Given the description of an element on the screen output the (x, y) to click on. 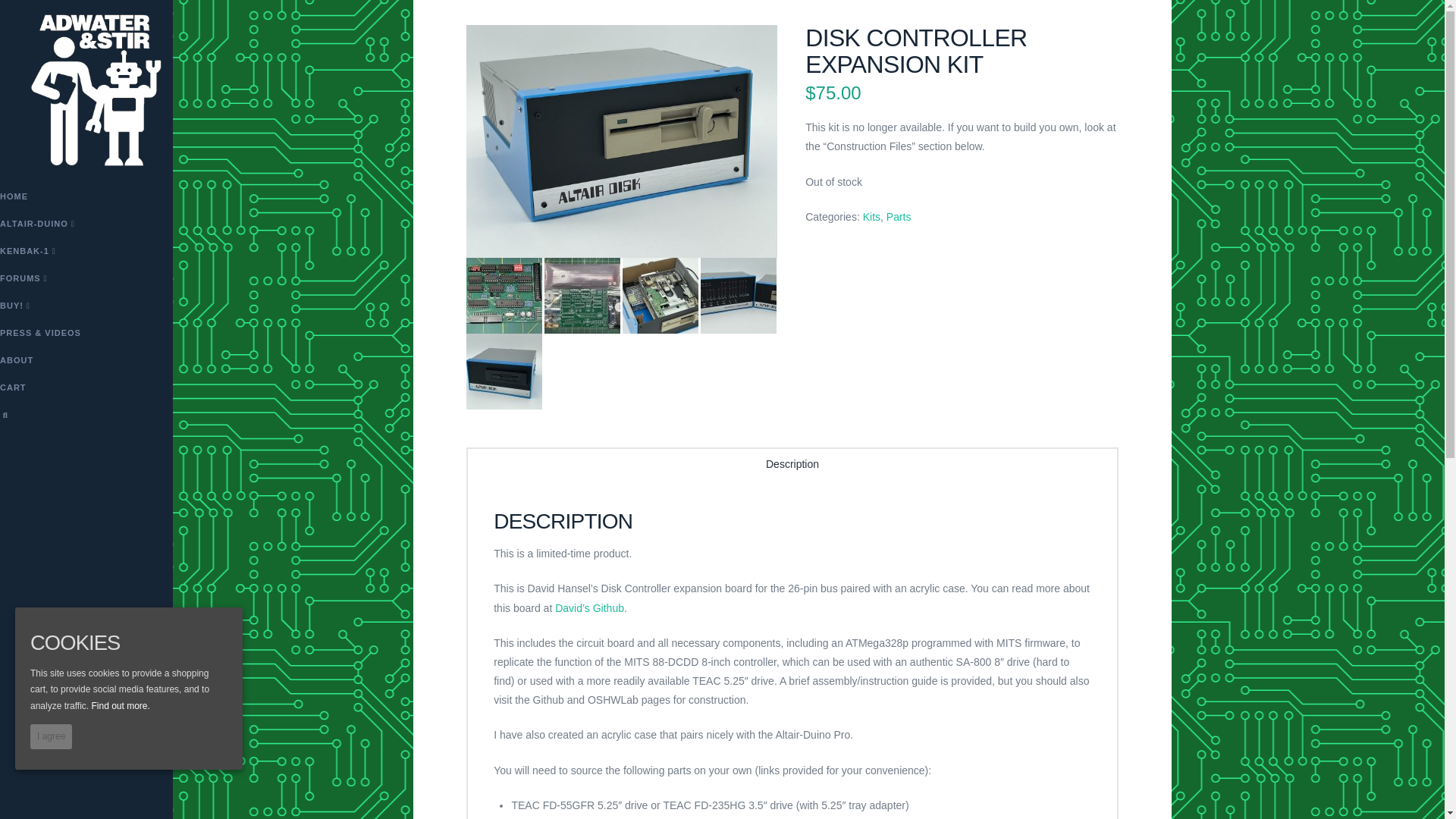
ABOUT (86, 361)
ALTAIR-DUINO (86, 225)
HOME (86, 198)
BUY! (86, 307)
FORUMS (86, 280)
KENBAK-1 (86, 252)
CART (86, 389)
